Given the description of an element on the screen output the (x, y) to click on. 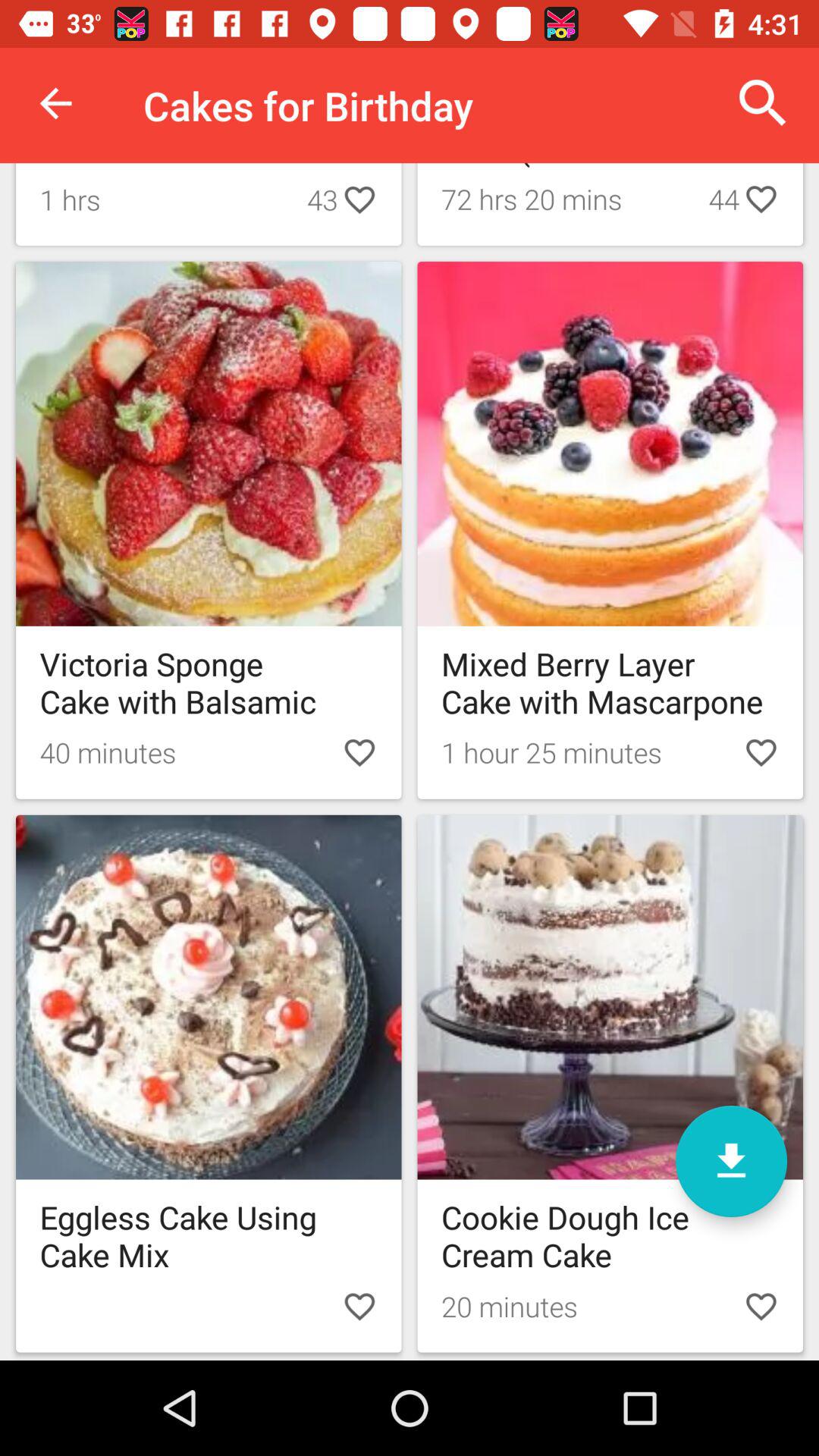
click item to the left of the cakes for birthday item (55, 103)
